Given the description of an element on the screen output the (x, y) to click on. 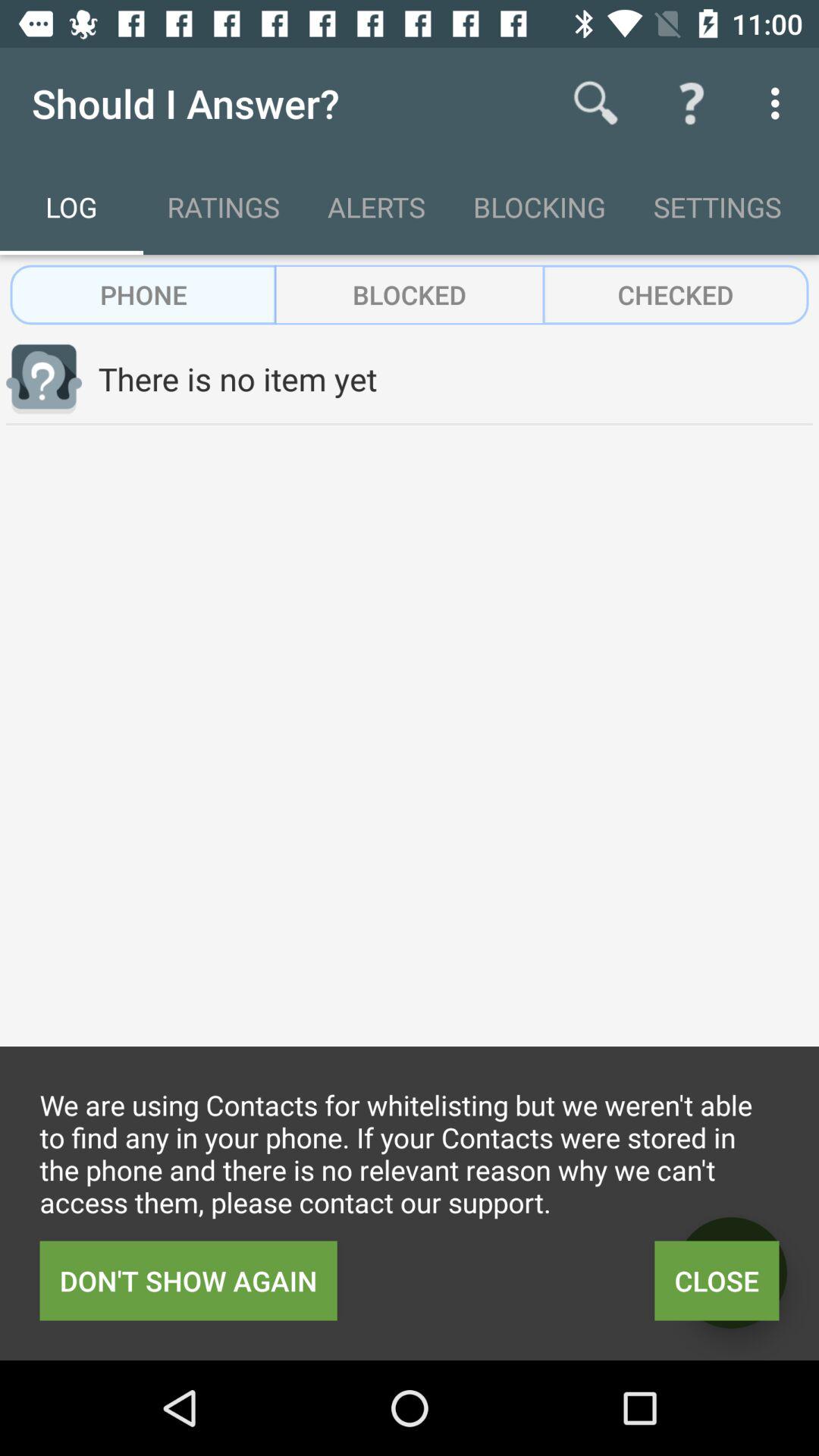
choose the item next to blocked icon (675, 294)
